Given the description of an element on the screen output the (x, y) to click on. 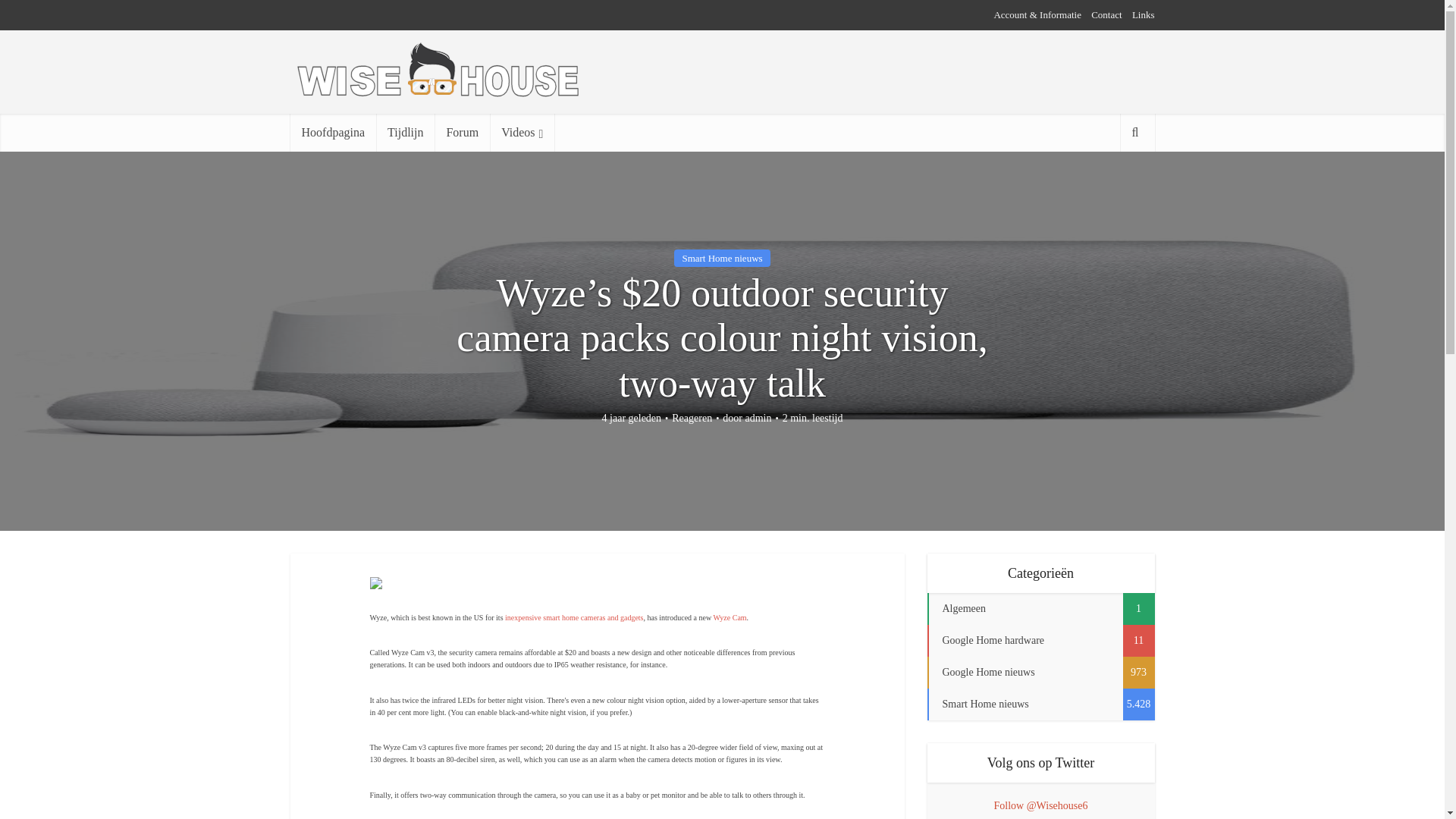
inexpensive smart home cameras and gadgets (574, 617)
Hoofdpagina (332, 132)
Forum (461, 132)
Wyze Cam (729, 617)
Smart Home nieuws (722, 257)
Contact (1105, 14)
Videos (521, 132)
Reageren (691, 418)
Links (1143, 14)
Tijdlijn (404, 132)
